Given the description of an element on the screen output the (x, y) to click on. 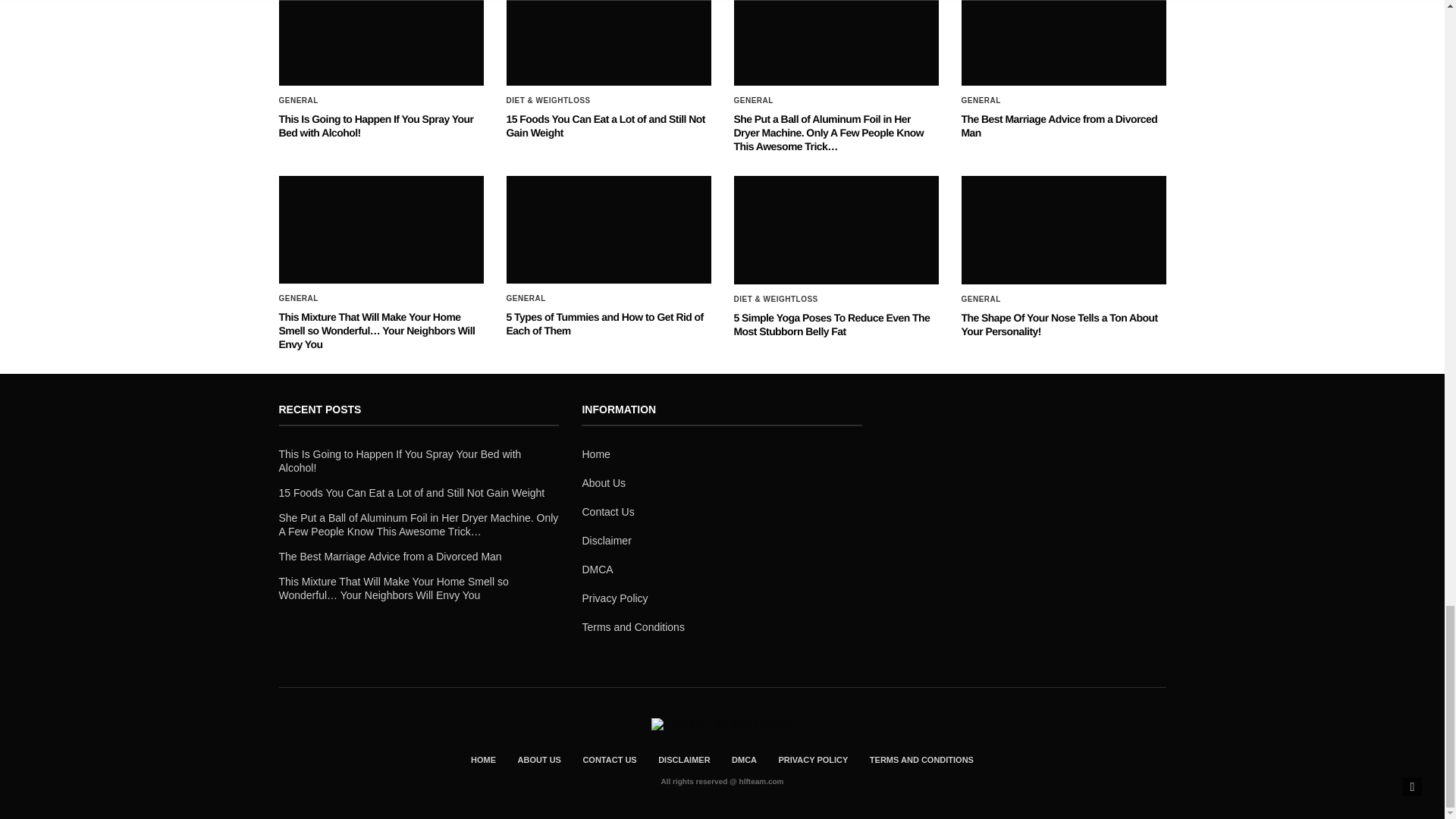
GENERAL (298, 100)
15 Foods You Can Eat a Lot of and Still Not Gain Weight (605, 125)
This Is Going to Happen If You Spray Your Bed with Alcohol! (376, 125)
GENERAL (753, 100)
General (298, 100)
This Is Going to Happen If You Spray Your Bed with Alcohol! (381, 42)
15 Foods You Can Eat a Lot of and Still Not Gain Weight (608, 42)
This Is Going to Happen If You Spray Your Bed with Alcohol! (376, 125)
GENERAL (980, 100)
15 Foods You Can Eat a Lot of and Still Not Gain Weight (605, 125)
General (753, 100)
